Given the description of an element on the screen output the (x, y) to click on. 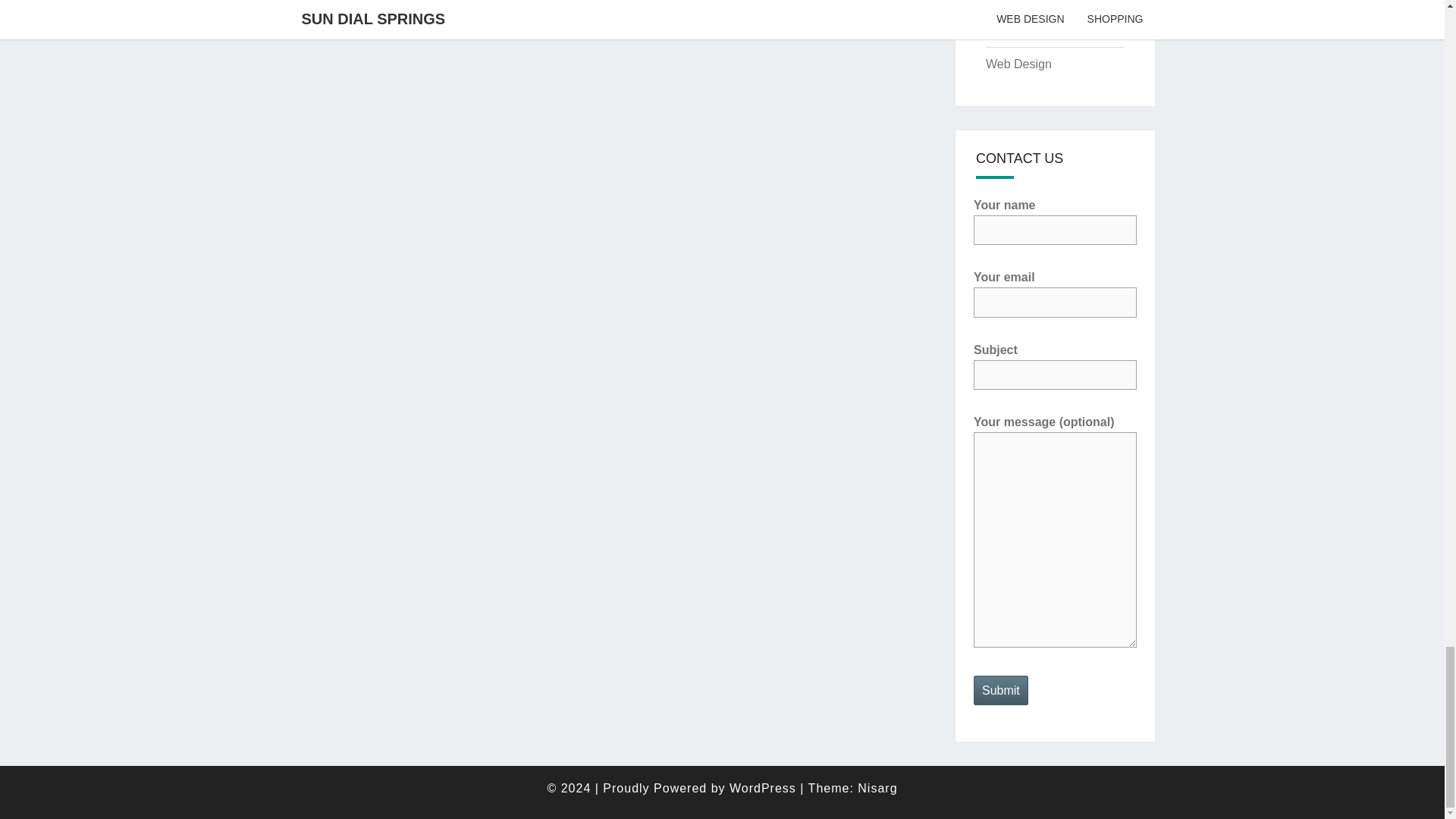
Submit (1000, 690)
